Given the description of an element on the screen output the (x, y) to click on. 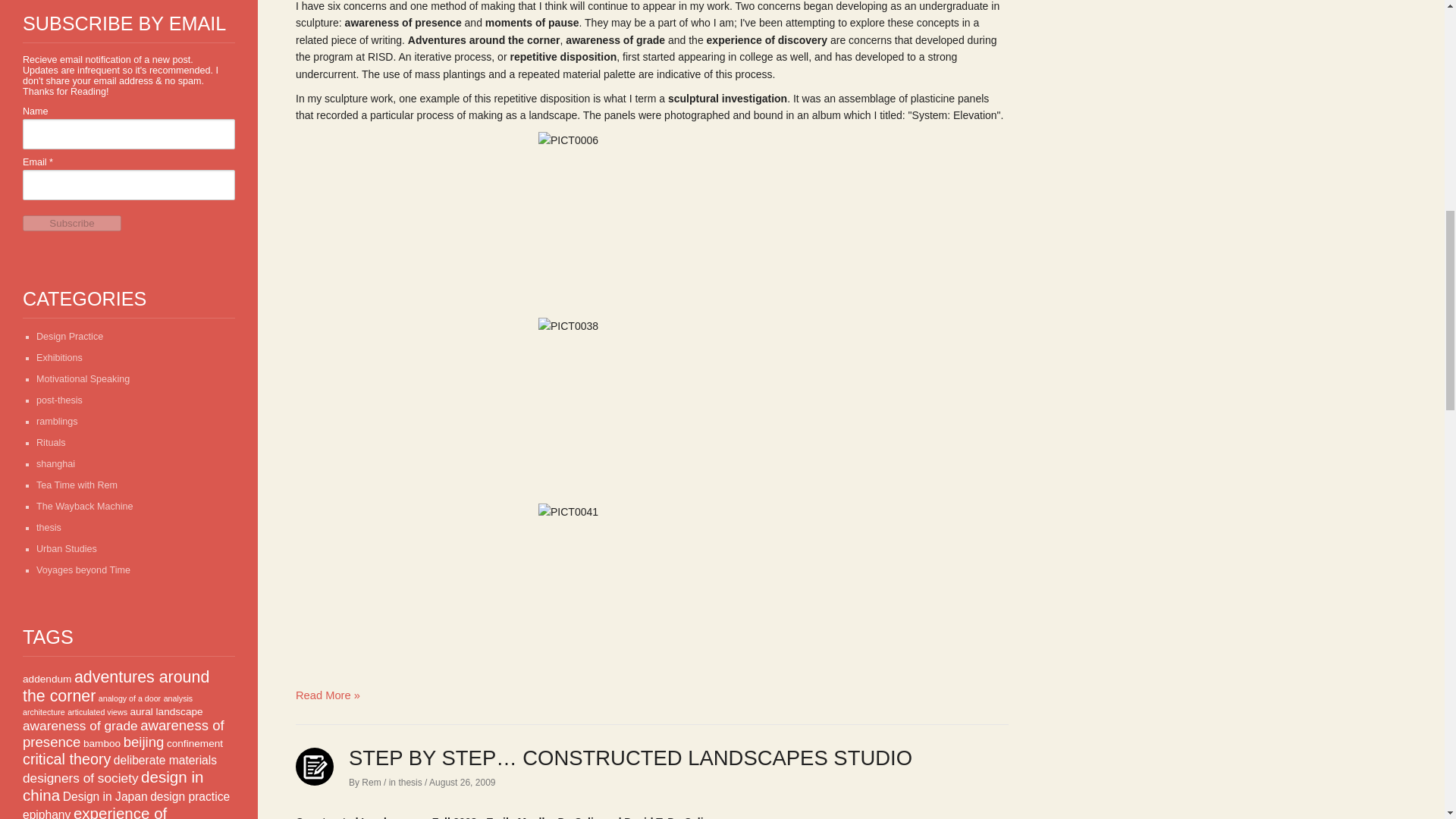
Urban Studies (66, 548)
The Wayback Machine (84, 506)
beijing (143, 741)
PICT0038 (651, 402)
Motivational Speaking (82, 378)
architecture (44, 711)
Voyages beyond Time (83, 570)
Subscribe (71, 222)
Exhibitions (59, 357)
aural landscape (165, 711)
Design Practice (69, 336)
articulated views (97, 711)
PICT0041 (651, 588)
Subscribe (71, 222)
addendum (47, 678)
